Given the description of an element on the screen output the (x, y) to click on. 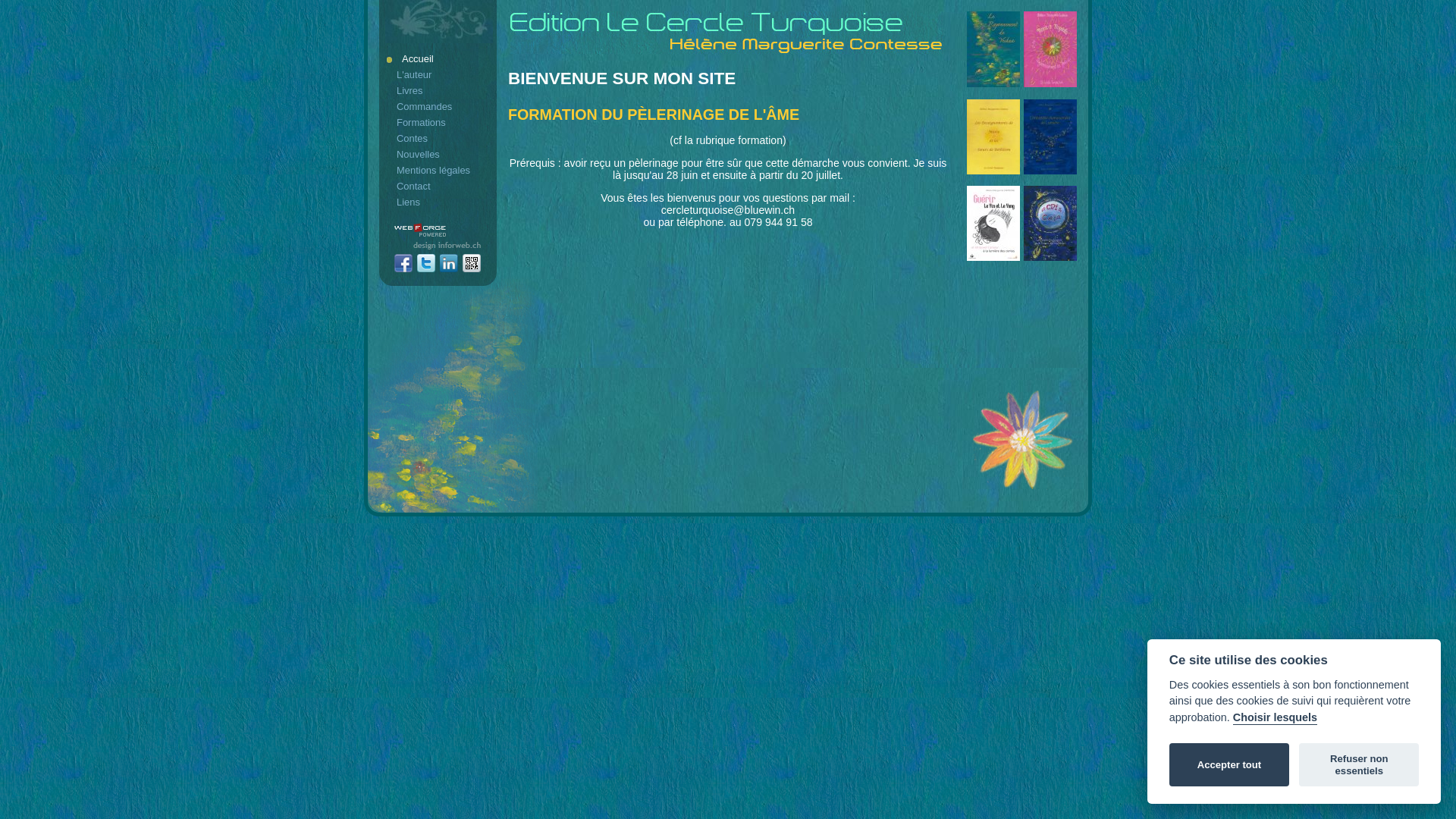
Partager sur Facebook Element type: hover (403, 264)
Livres Element type: text (438, 90)
Afficher le QR-Code Element type: hover (471, 264)
Contes Element type: text (438, 138)
Choisir lesquels Element type: text (1275, 717)
Liens Element type: text (438, 202)
Partager sur Twitter Element type: hover (426, 264)
Nouvelles Element type: text (438, 154)
Accepter tout Element type: text (1229, 765)
Formations Element type: text (438, 122)
Contact Element type: text (438, 186)
Refuser non essentiels Element type: text (1358, 765)
Commandes Element type: text (438, 106)
Partager sur LinkedIn Element type: hover (448, 264)
L'auteur Element type: text (438, 74)
Accueil Element type: text (438, 58)
Modifier son site internet avec WebForge Element type: hover (419, 230)
